Given the description of an element on the screen output the (x, y) to click on. 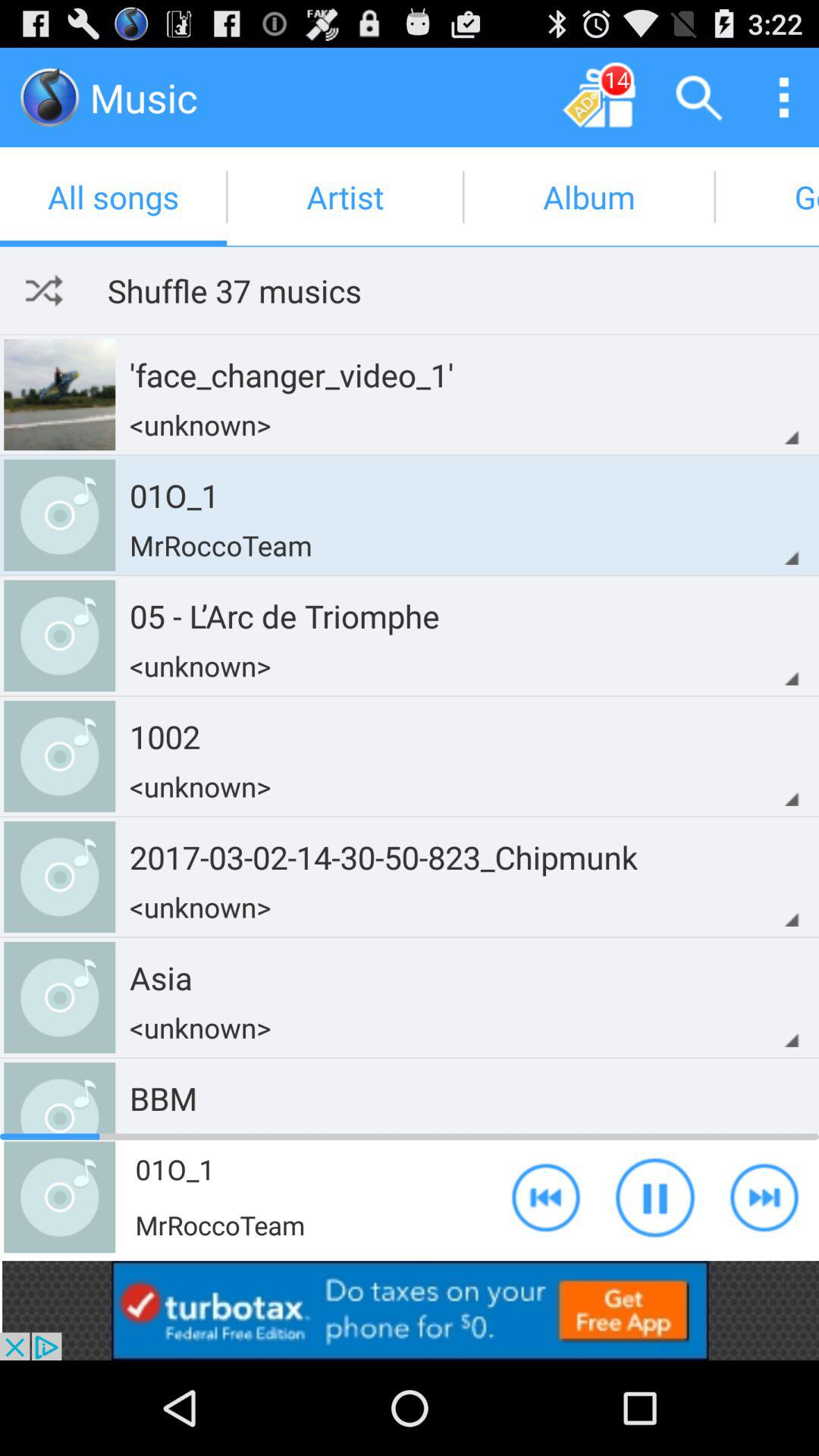
open advertisement (409, 1310)
